Given the description of an element on the screen output the (x, y) to click on. 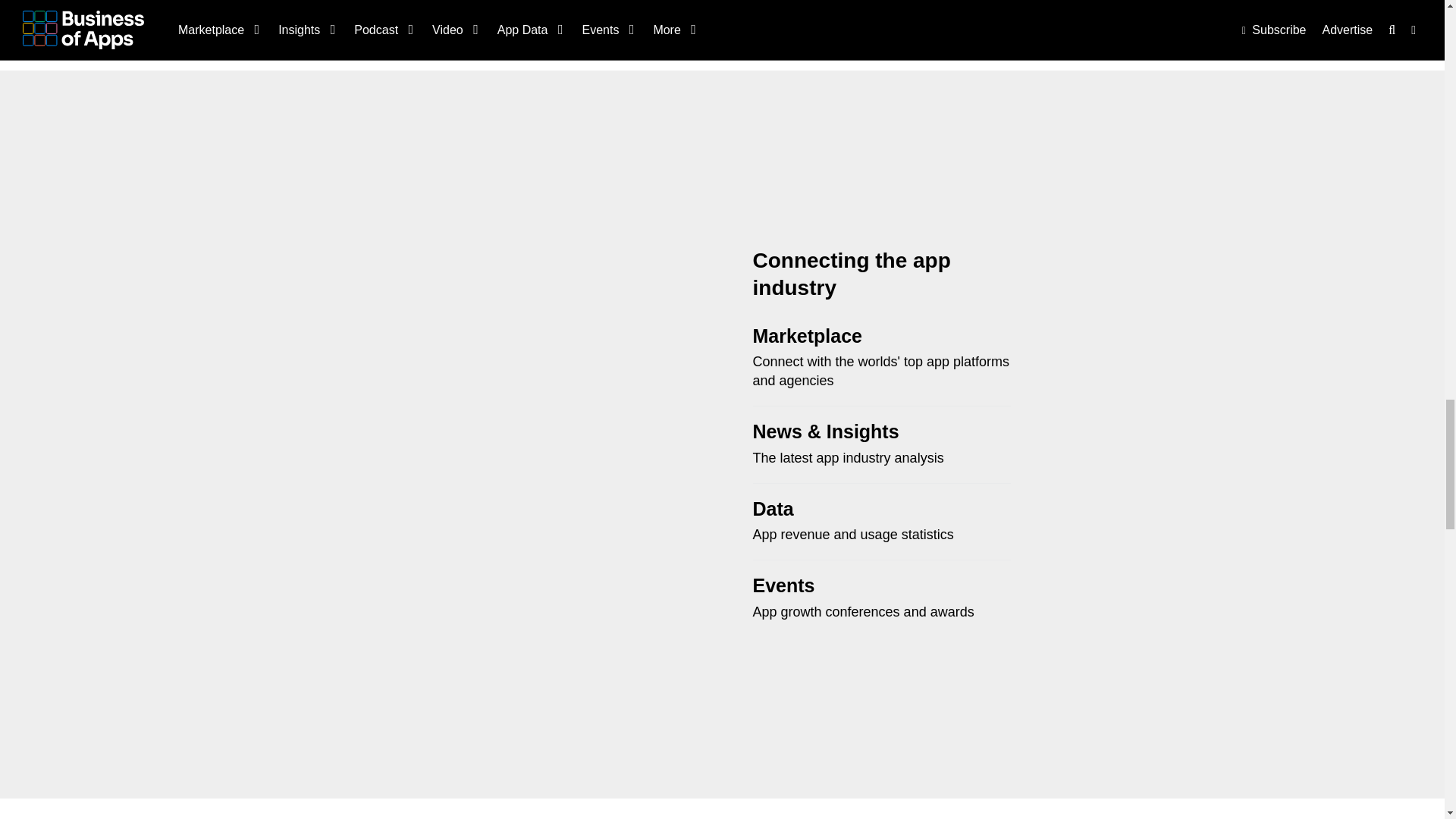
Events (782, 585)
News (777, 431)
Data (772, 508)
Marketplace (806, 335)
Insights (863, 431)
